Given the description of an element on the screen output the (x, y) to click on. 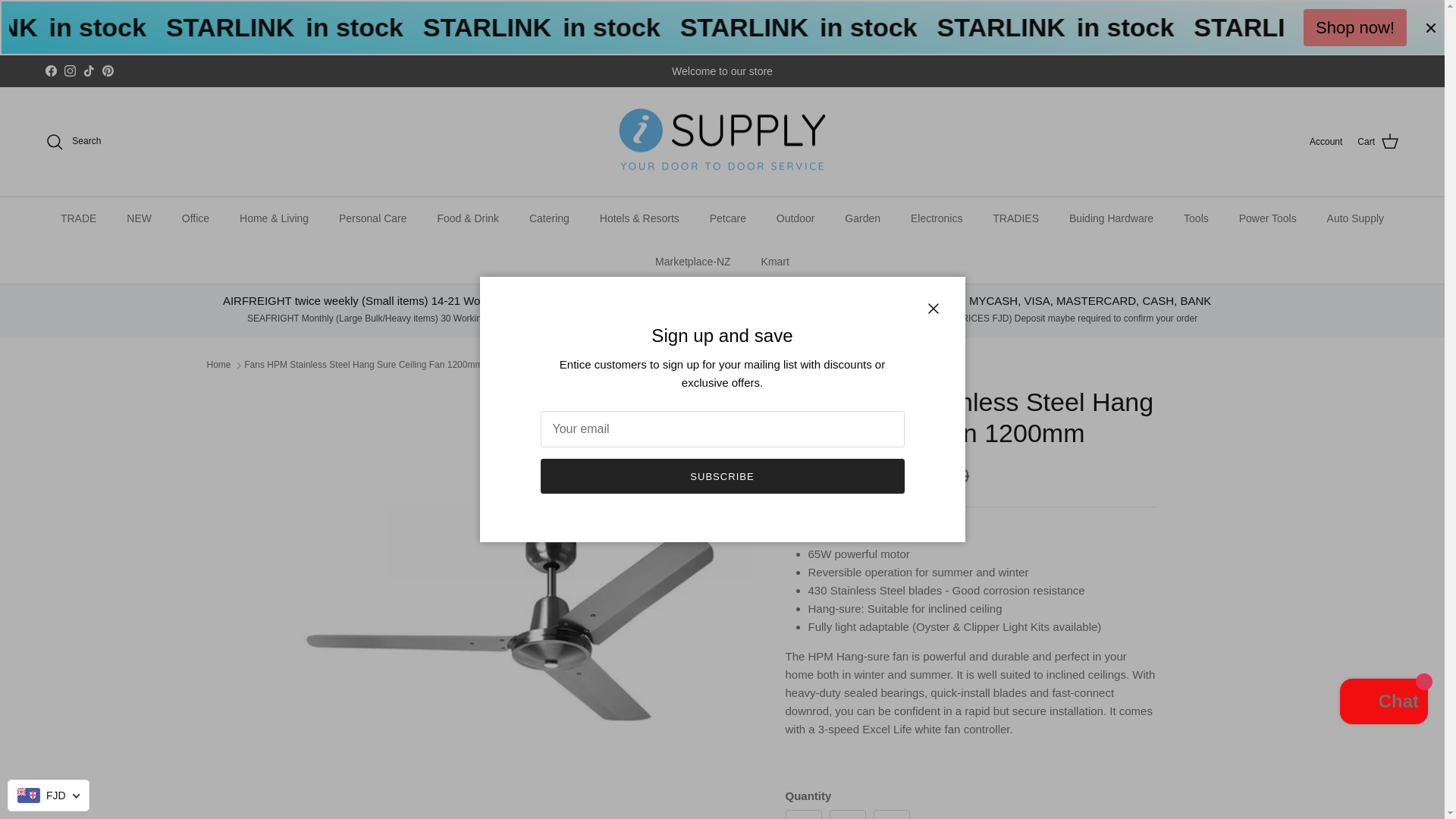
Search (72, 141)
TikTok (88, 70)
TRADE (78, 218)
i Supply Solutions NZ   on Pinterest (107, 70)
i Supply Solutions NZ   on TikTok (88, 70)
i Supply Solutions NZ   (721, 141)
i Supply Solutions NZ   on Instagram (69, 70)
1 (847, 814)
Instagram (69, 70)
Shopify online store chat (1383, 703)
Shop now! (1354, 27)
Facebook (50, 70)
Account (1325, 142)
Cart (1377, 141)
i Supply Solutions NZ   on Facebook (50, 70)
